Given the description of an element on the screen output the (x, y) to click on. 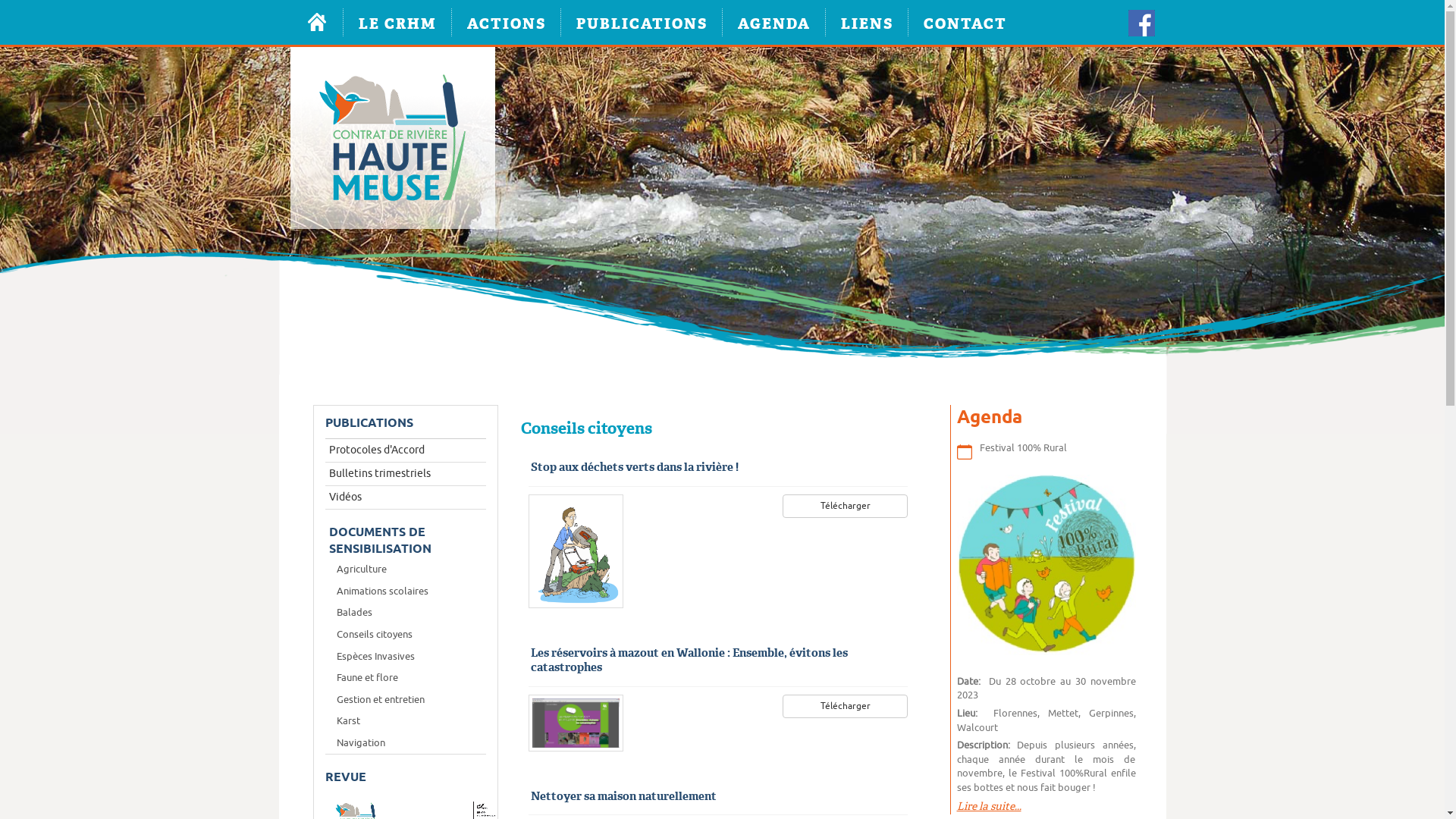
Agriculture Element type: text (405, 569)
LIENS Element type: text (866, 22)
Bulletins trimestriels Element type: text (405, 473)
LE CRHM Element type: text (396, 22)
Conseils citoyens Element type: text (405, 635)
Animations scolaires Element type: text (405, 591)
Gestion et entretien Element type: text (405, 700)
Protocoles d'Accord Element type: text (405, 450)
PUBLICATIONS Element type: text (641, 22)
CONTACT Element type: text (965, 22)
Karst Element type: text (405, 721)
Faune et flore Element type: text (405, 678)
Festival 100% Rural Element type: text (1022, 447)
AGENDA Element type: text (773, 22)
Balades Element type: text (405, 613)
Navigation Element type: text (405, 743)
ACTIONS Element type: text (506, 22)
Accueil Element type: hover (315, 22)
Lire la suite... Element type: text (989, 805)
